Given the description of an element on the screen output the (x, y) to click on. 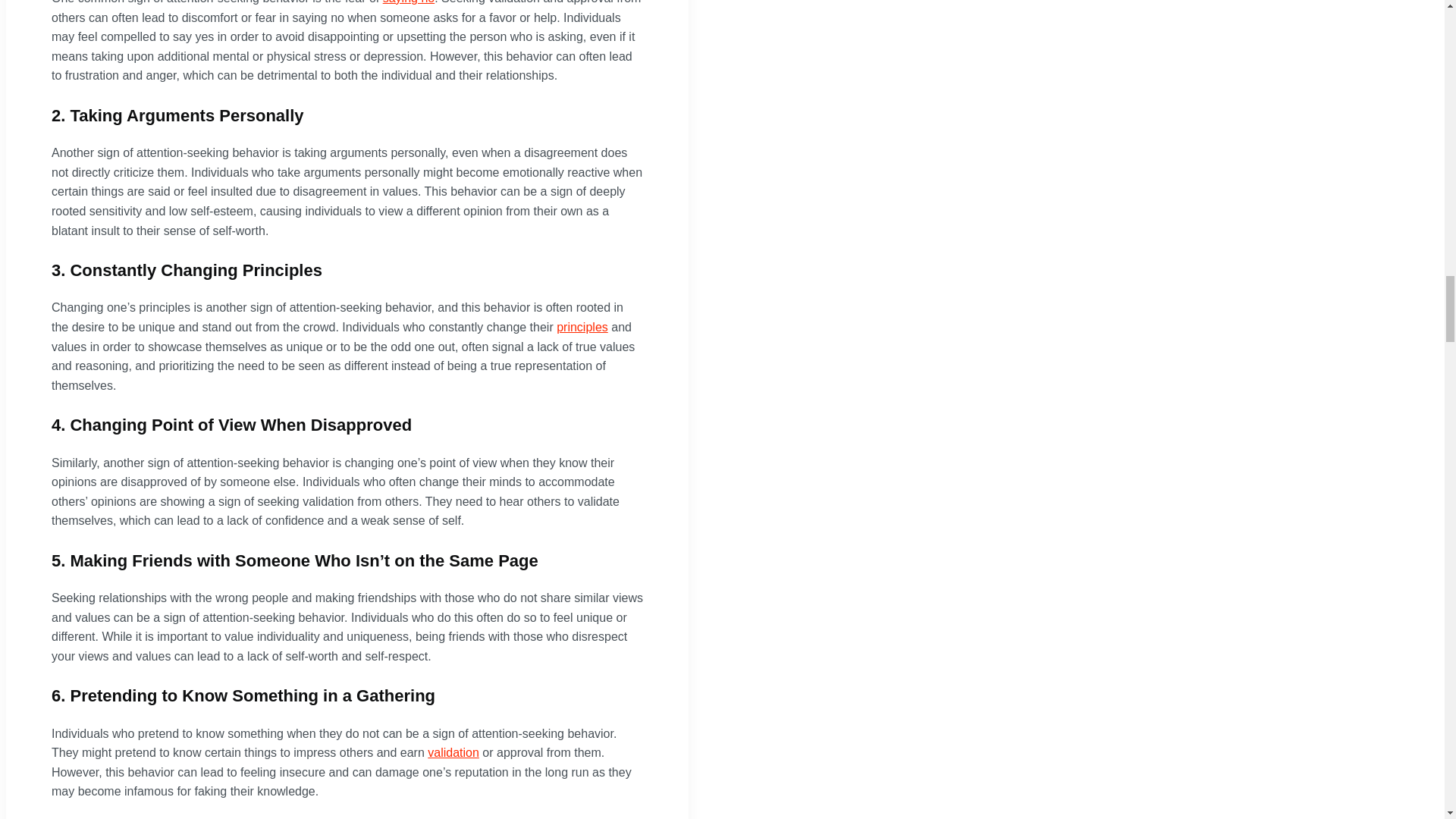
principles (582, 327)
validation (453, 752)
saying no (408, 2)
